Given the description of an element on the screen output the (x, y) to click on. 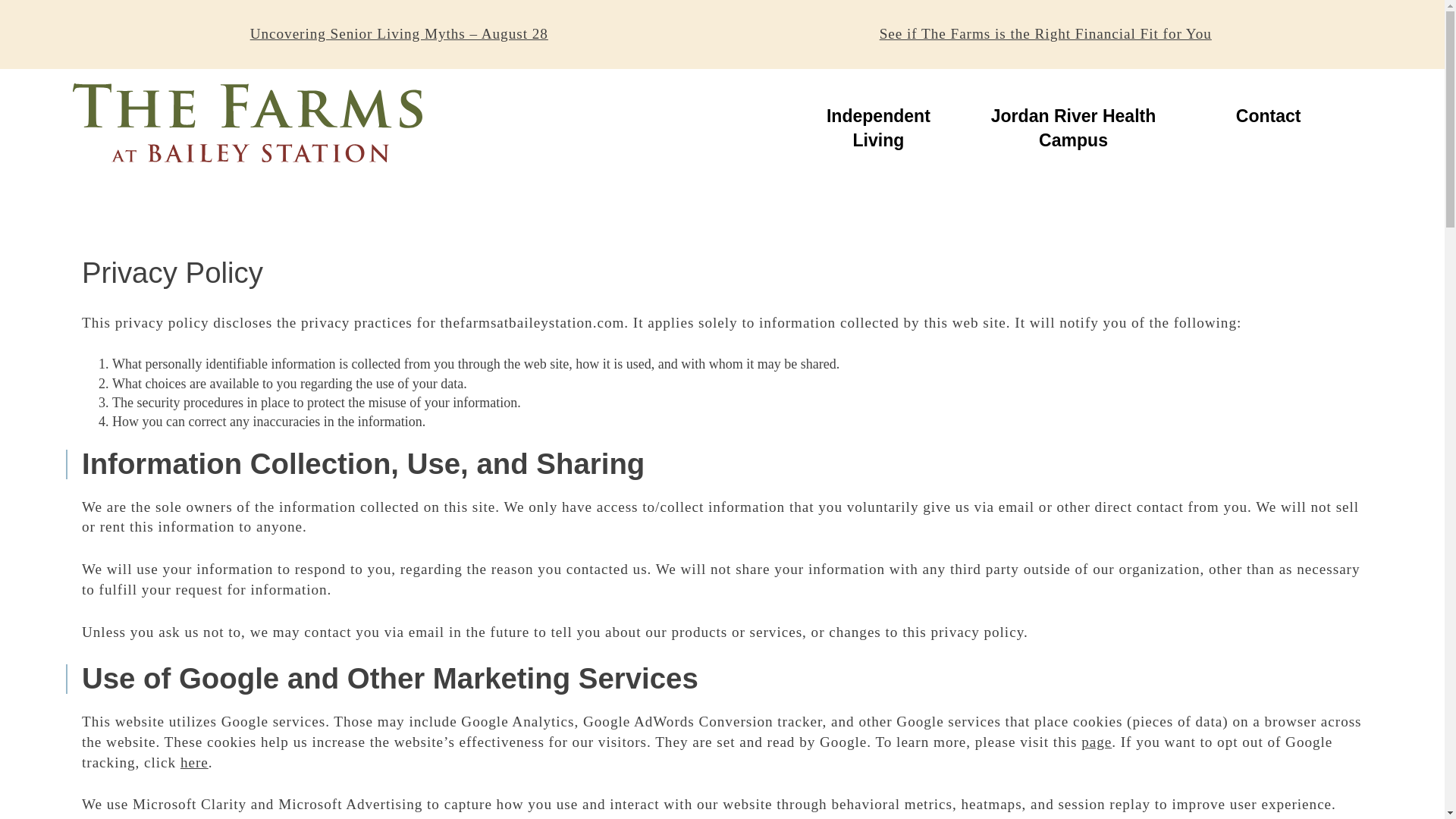
Jordan River Health Campus (1073, 128)
See if The Farms is the Right Financial Fit for You (1268, 128)
